Given the description of an element on the screen output the (x, y) to click on. 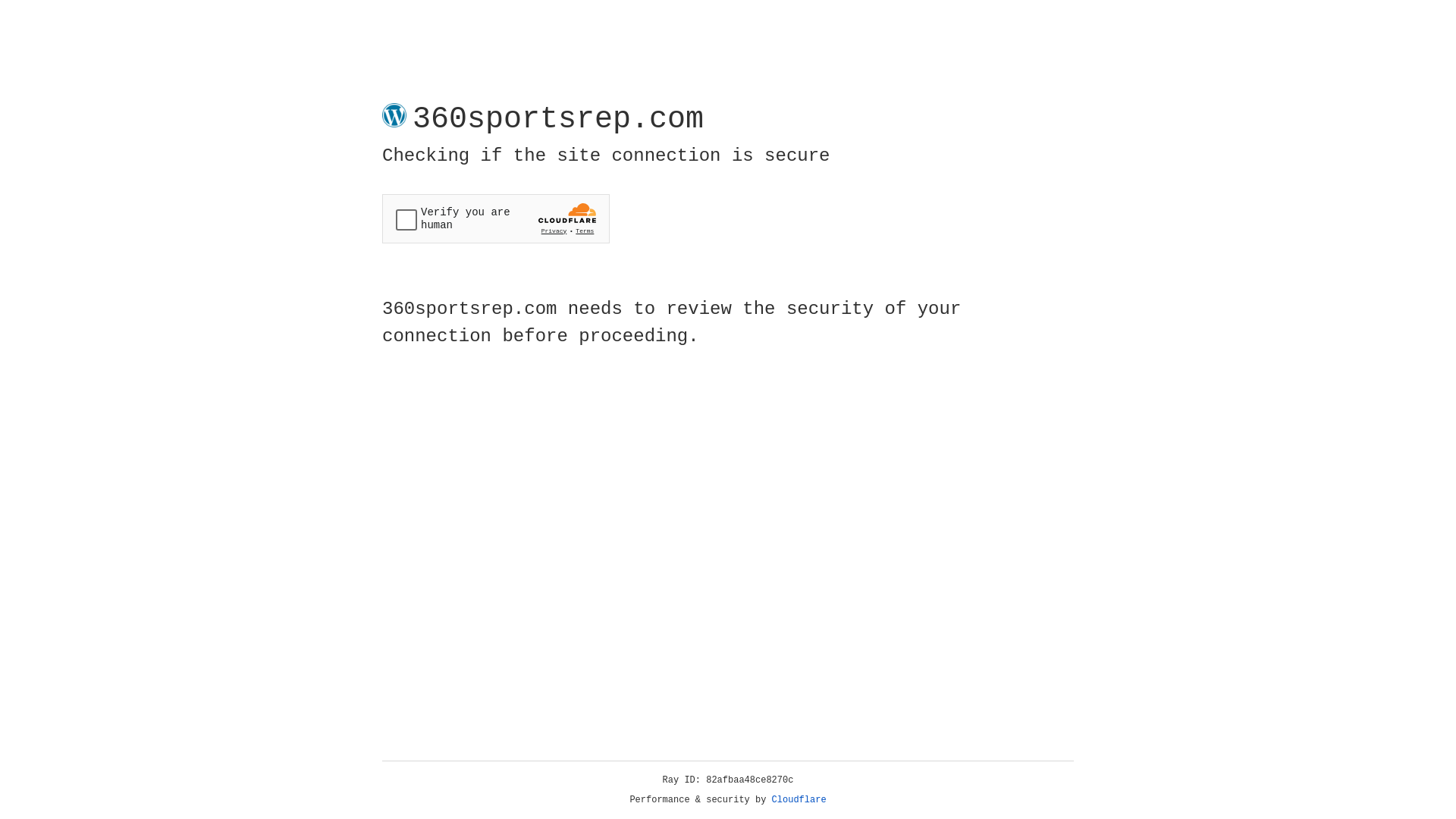
Widget containing a Cloudflare security challenge Element type: hover (495, 218)
Cloudflare Element type: text (798, 799)
